Given the description of an element on the screen output the (x, y) to click on. 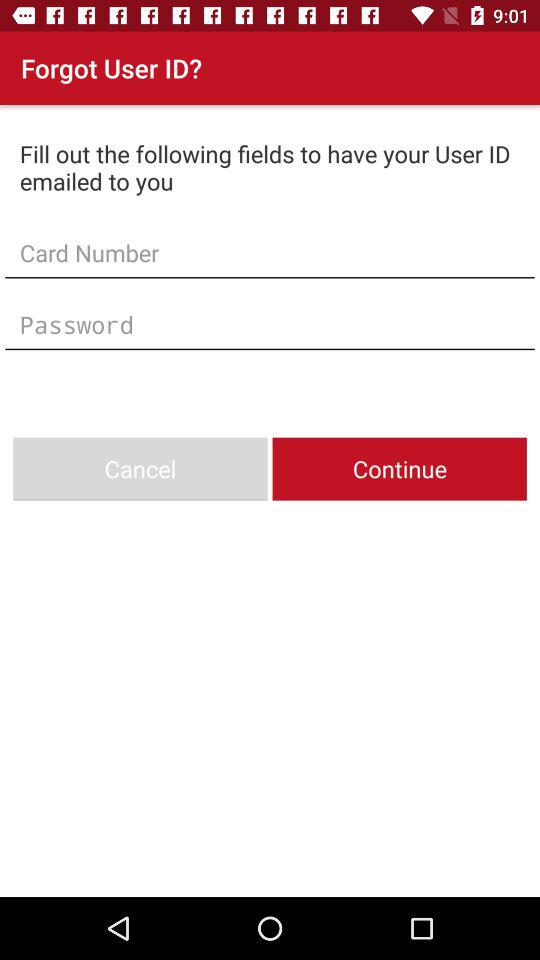
press icon to the left of the continue item (140, 468)
